Given the description of an element on the screen output the (x, y) to click on. 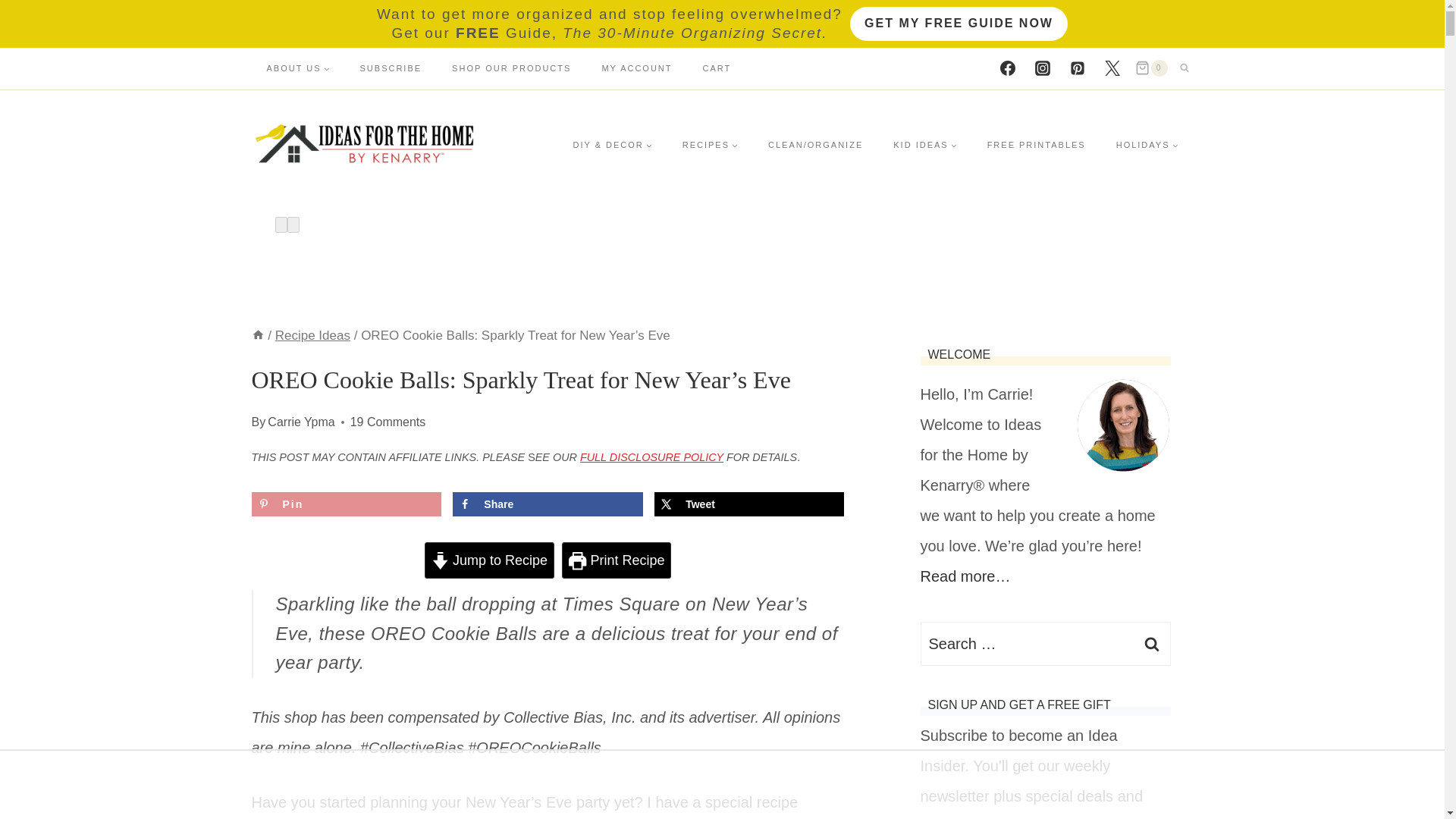
FREE PRINTABLES (1036, 144)
HOLIDAYS (1146, 144)
Home (257, 335)
0 (1151, 67)
Save to Pinterest (346, 504)
MY ACCOUNT (636, 67)
19 Comments (388, 422)
SHOP OUR PRODUCTS (511, 67)
CART (716, 67)
Share on Facebook (547, 504)
